Given the description of an element on the screen output the (x, y) to click on. 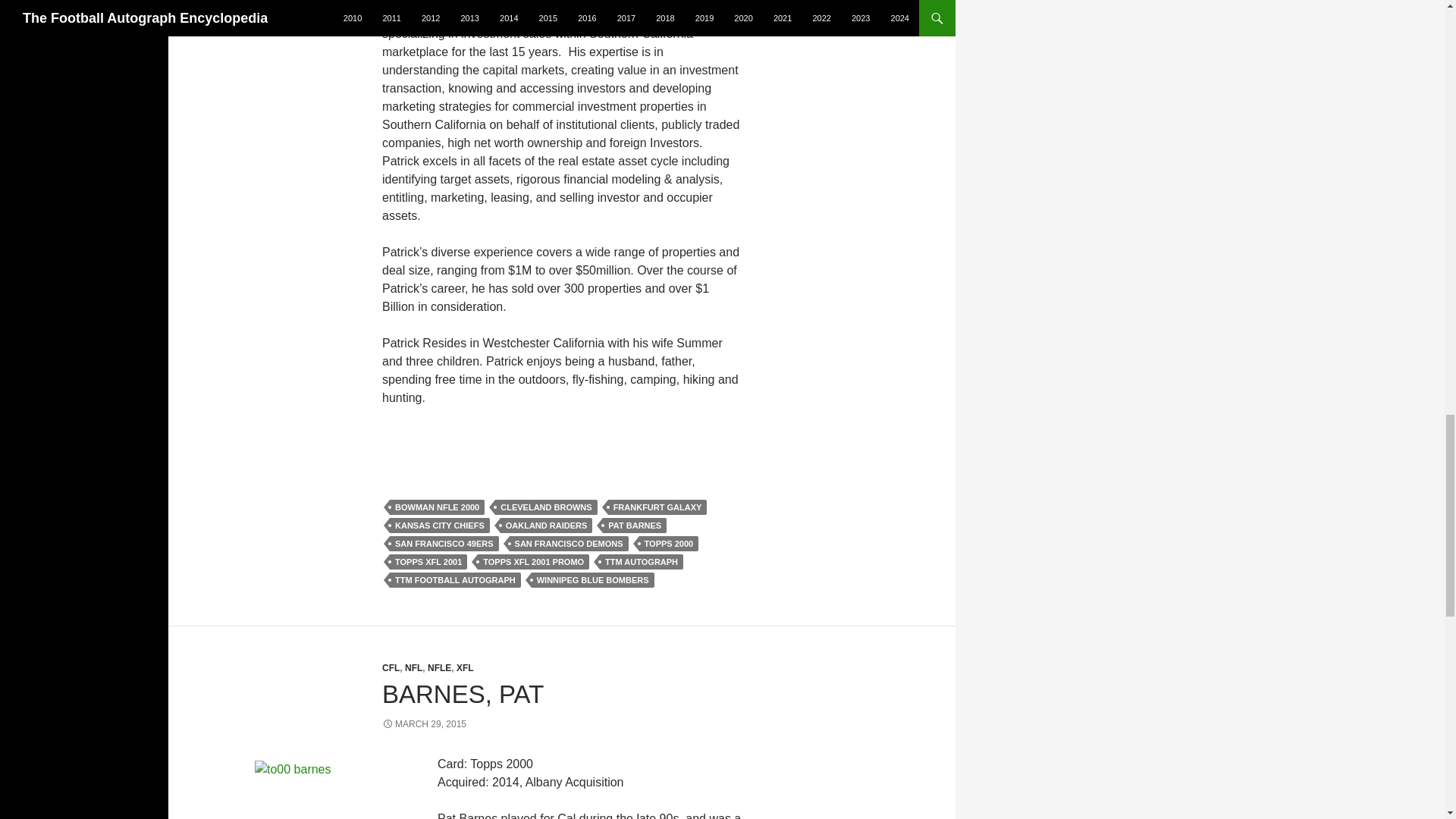
OAKLAND RAIDERS (546, 525)
TOPPS XFL 2001 PROMO (533, 561)
SAN FRANCISCO DEMONS (568, 543)
FRANKFURT GALAXY (657, 507)
TTM AUTOGRAPH (640, 561)
TOPPS XFL 2001 (428, 561)
SAN FRANCISCO 49ERS (444, 543)
CLEVELAND BROWNS (545, 507)
KANSAS CITY CHIEFS (439, 525)
TOPPS 2000 (668, 543)
